Given the description of an element on the screen output the (x, y) to click on. 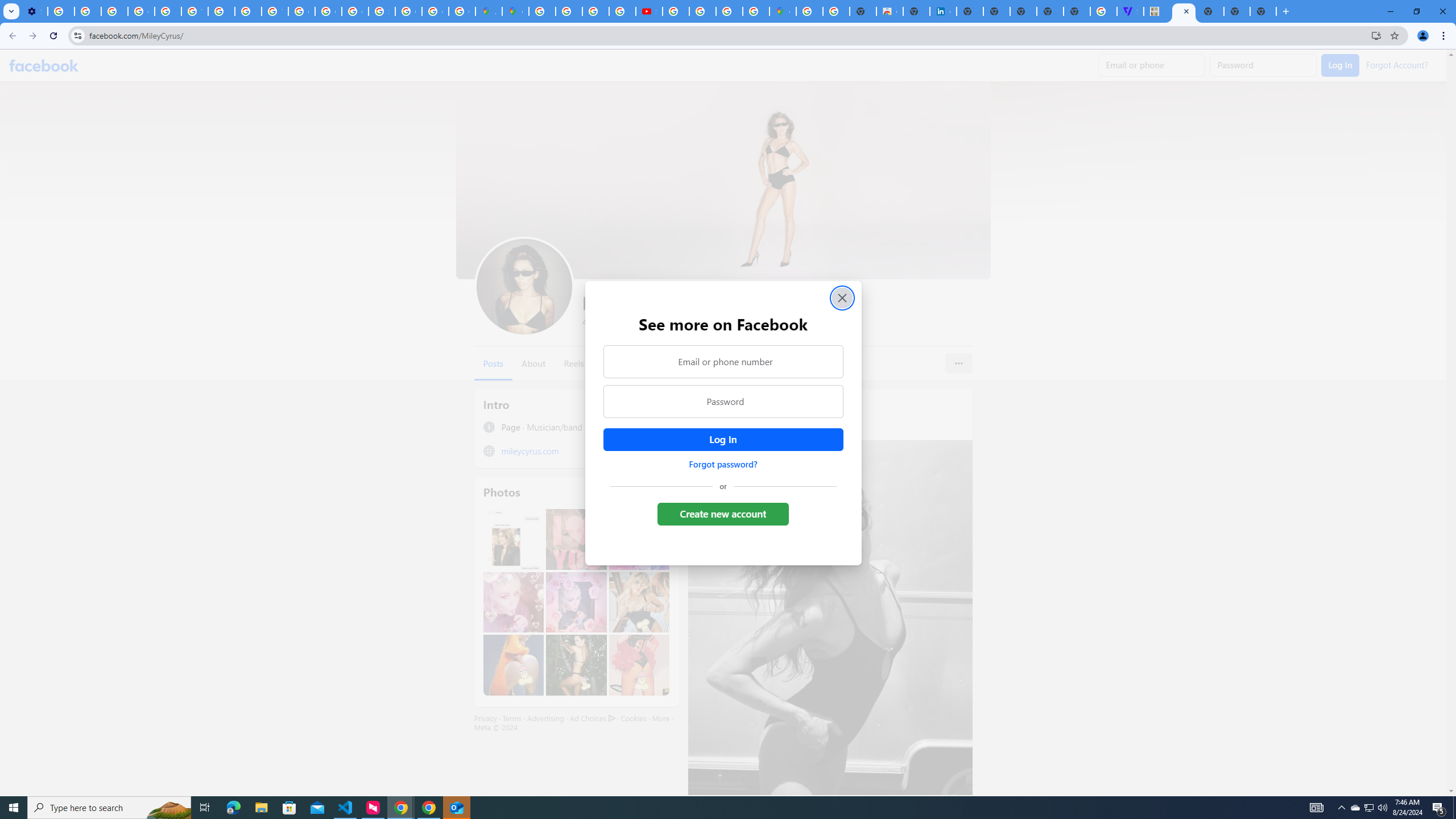
Cookie Policy | LinkedIn (943, 11)
Privacy Help Center - Policies Help (167, 11)
Privacy Help Center - Policies Help (248, 11)
Google Account Help (141, 11)
Settings - Customize profile (34, 11)
Chrome Web Store (889, 11)
